Given the description of an element on the screen output the (x, y) to click on. 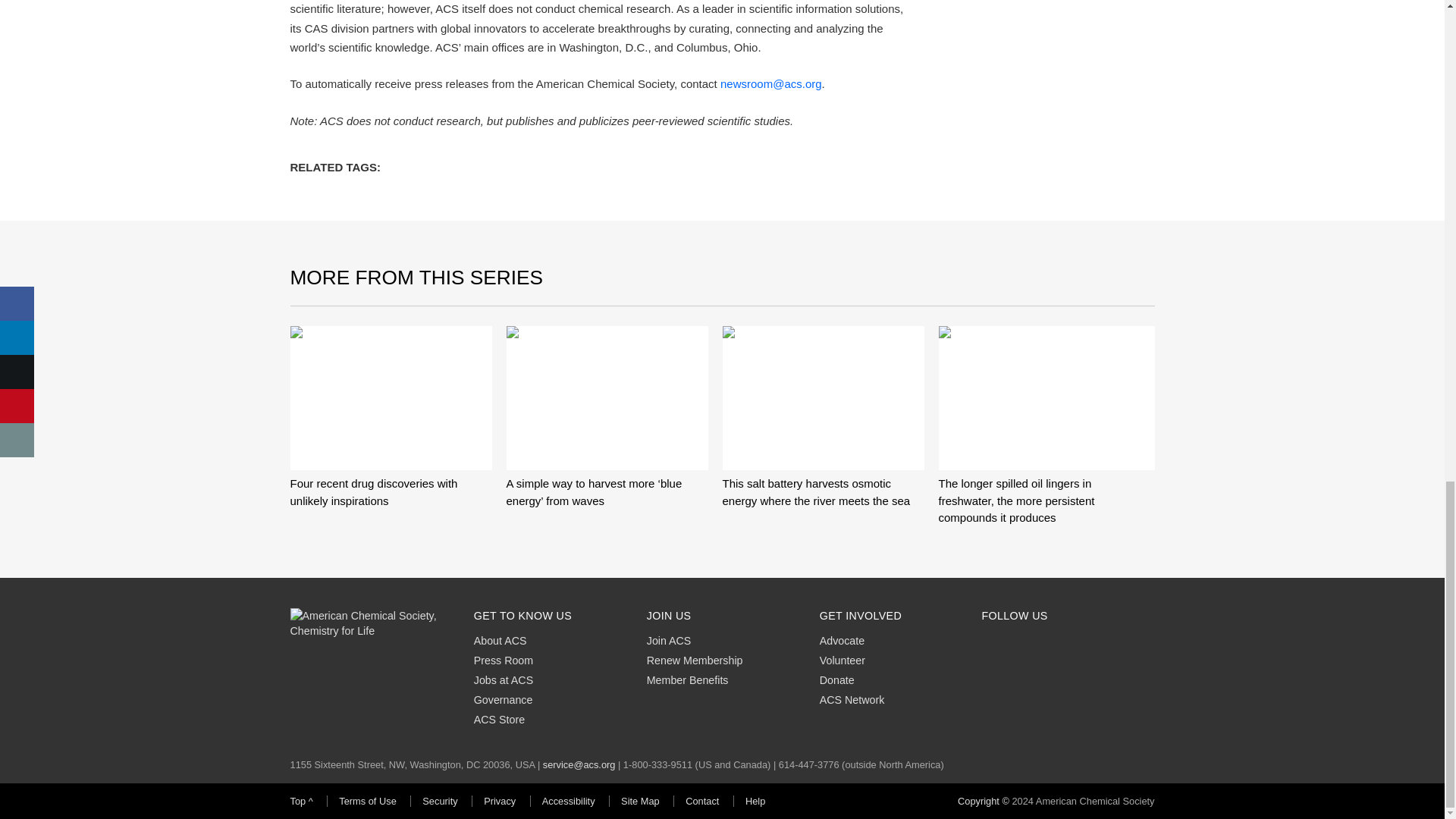
Four recent drug discoveries with unlikely inspirations (390, 397)
